Given the description of an element on the screen output the (x, y) to click on. 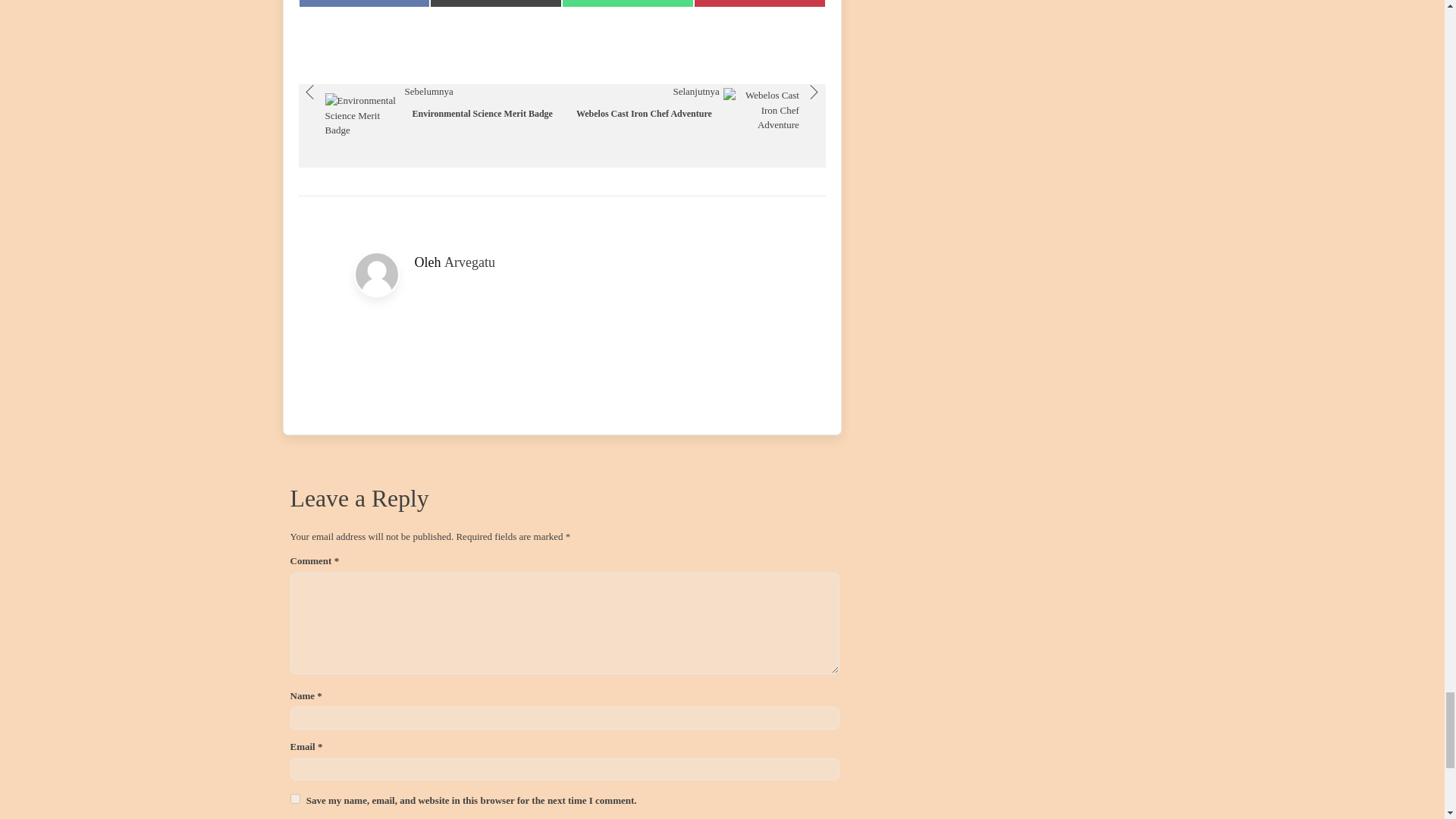
Arvegatu (430, 125)
yes (469, 262)
